Given the description of an element on the screen output the (x, y) to click on. 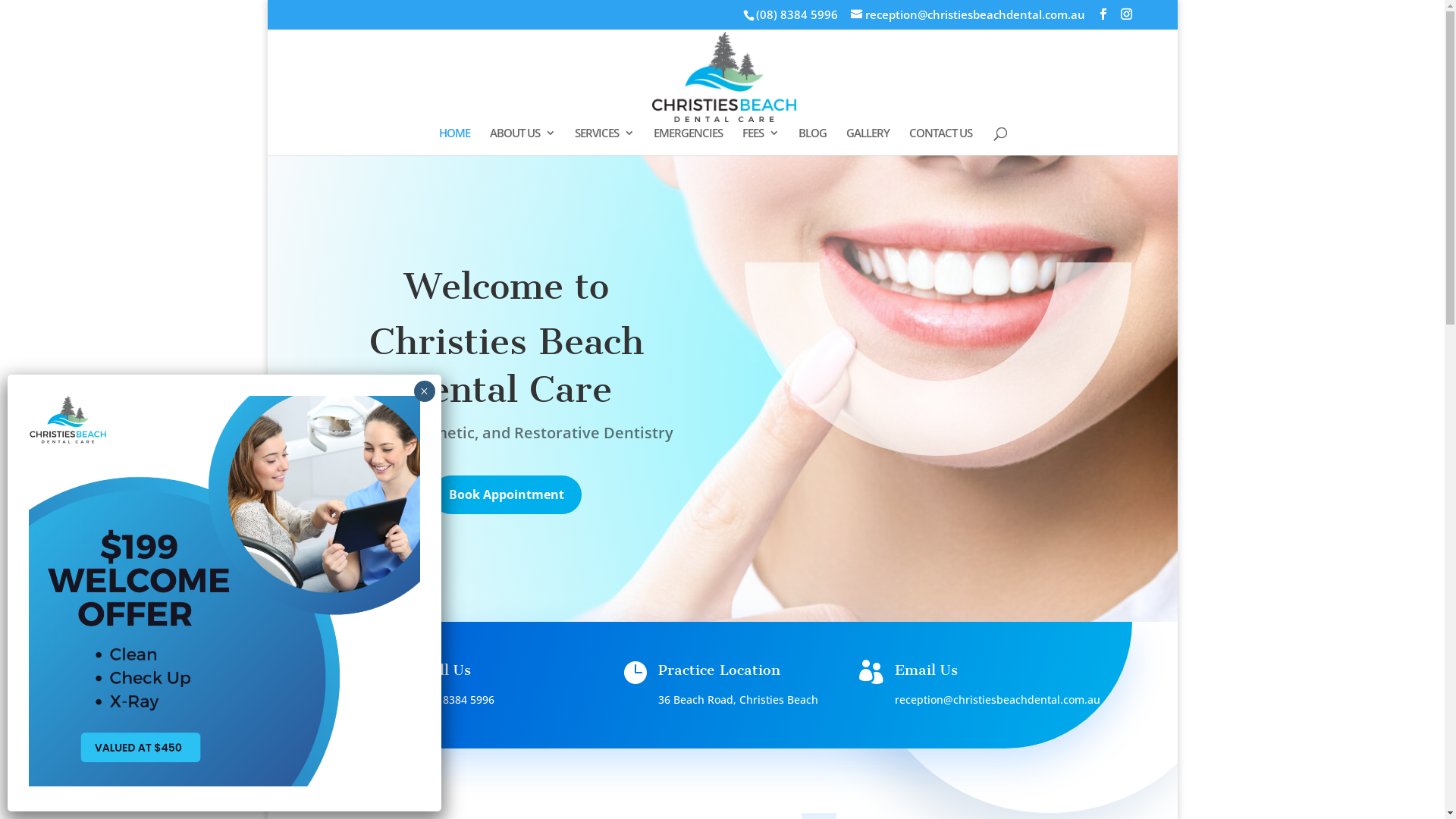
FEES Element type: text (760, 141)
CONTACT US Element type: text (940, 141)
ABOUT US Element type: text (522, 141)
BLOG Element type: text (812, 141)
SERVICES Element type: text (603, 141)
(08) 8384 5996 Element type: text (796, 13)
GALLERY Element type: text (867, 141)
HOME Element type: text (454, 141)
reception@christiesbeachdental.com.au Element type: text (997, 699)
(08) 8384 5996 Element type: text (457, 699)
Book Appointment Element type: text (506, 494)
reception@christiesbeachdental.com.au Element type: text (967, 13)
dentist-01 Element type: hover (937, 358)
EMERGENCIES Element type: text (687, 141)
